Given the description of an element on the screen output the (x, y) to click on. 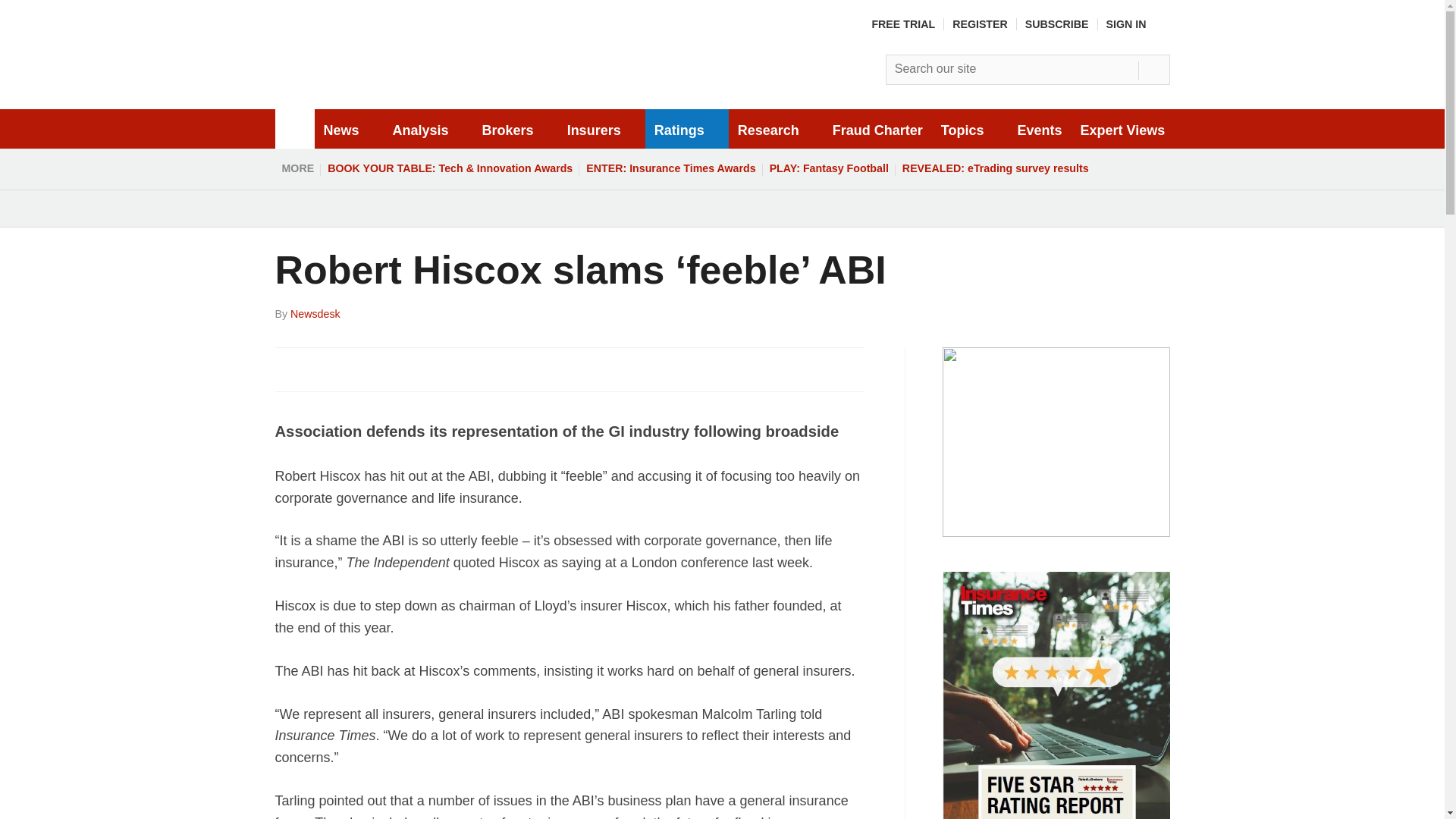
ENTER: Insurance Times Awards (670, 168)
REGISTER (979, 24)
Share this on Facebook (288, 369)
SUBSCRIBE (1057, 24)
SEARCH (1153, 69)
Insert Logo text (393, 90)
SIGN IN (1138, 24)
Share this on Twitter (320, 369)
REVEALED: eTrading survey results (995, 168)
PLAY: Fantasy Football (828, 168)
